Given the description of an element on the screen output the (x, y) to click on. 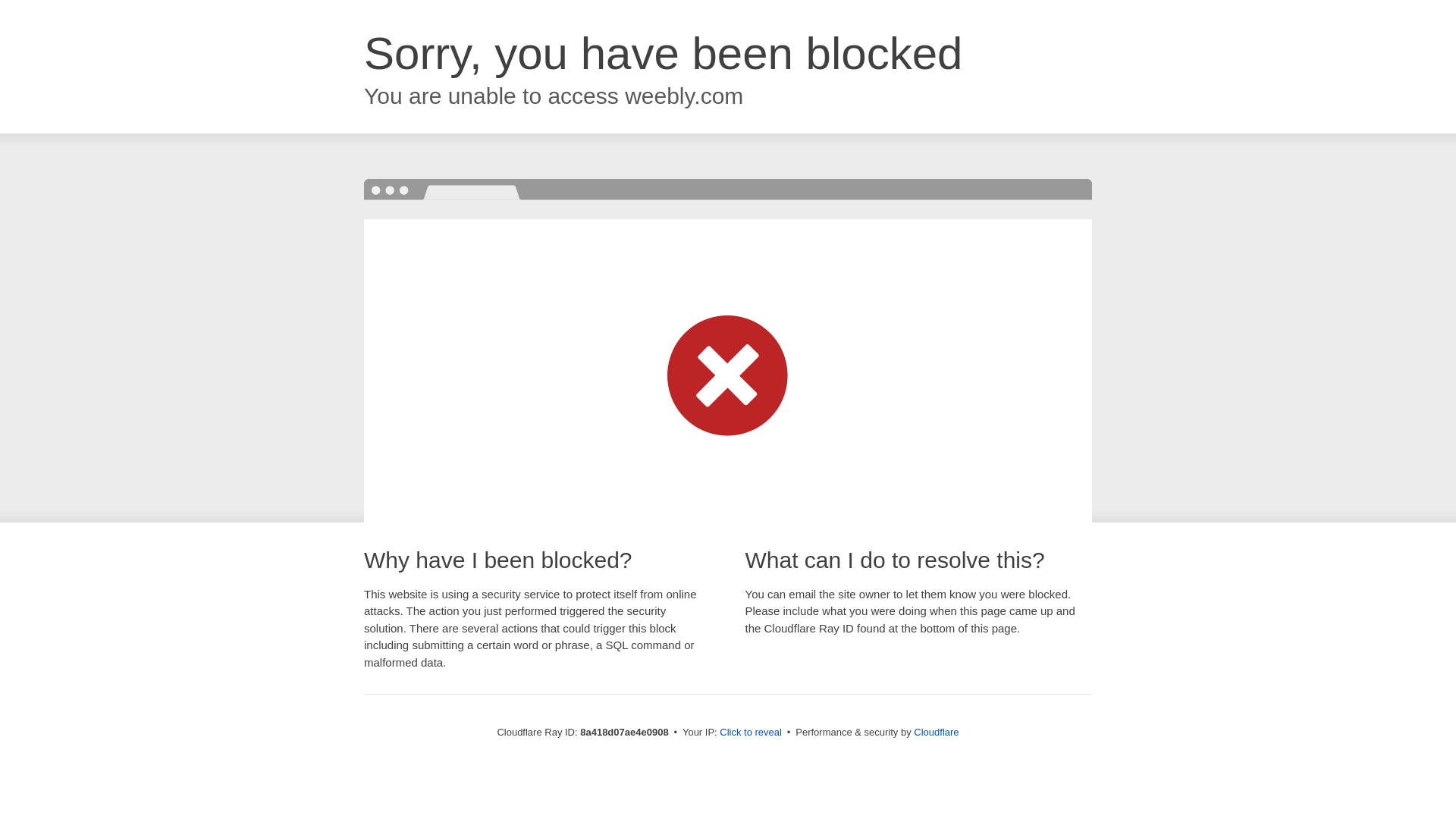
Click to reveal (750, 732)
Cloudflare (936, 731)
